Given the description of an element on the screen output the (x, y) to click on. 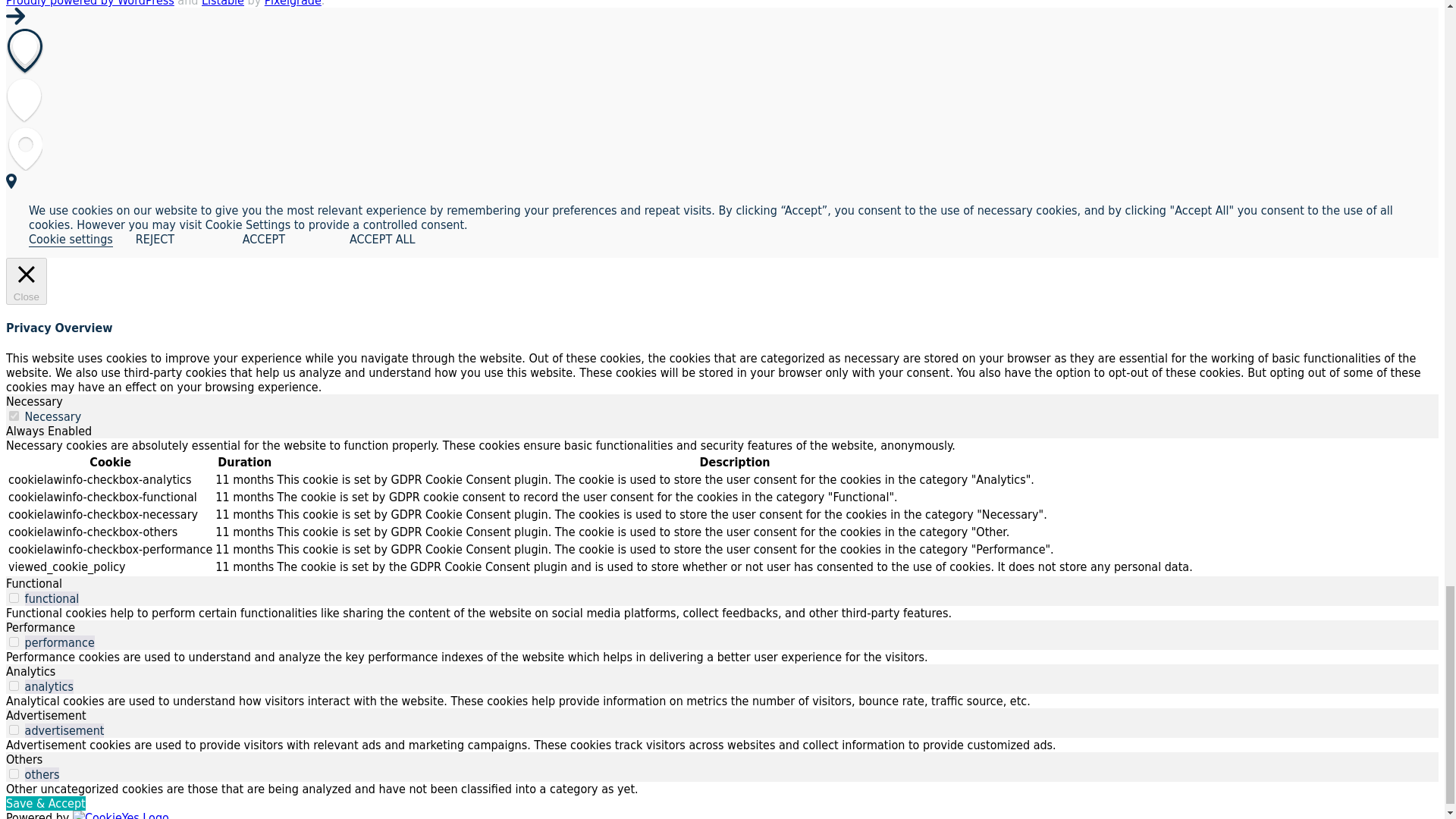
on (13, 597)
on (13, 729)
on (13, 685)
on (13, 773)
on (13, 415)
on (13, 642)
